Given the description of an element on the screen output the (x, y) to click on. 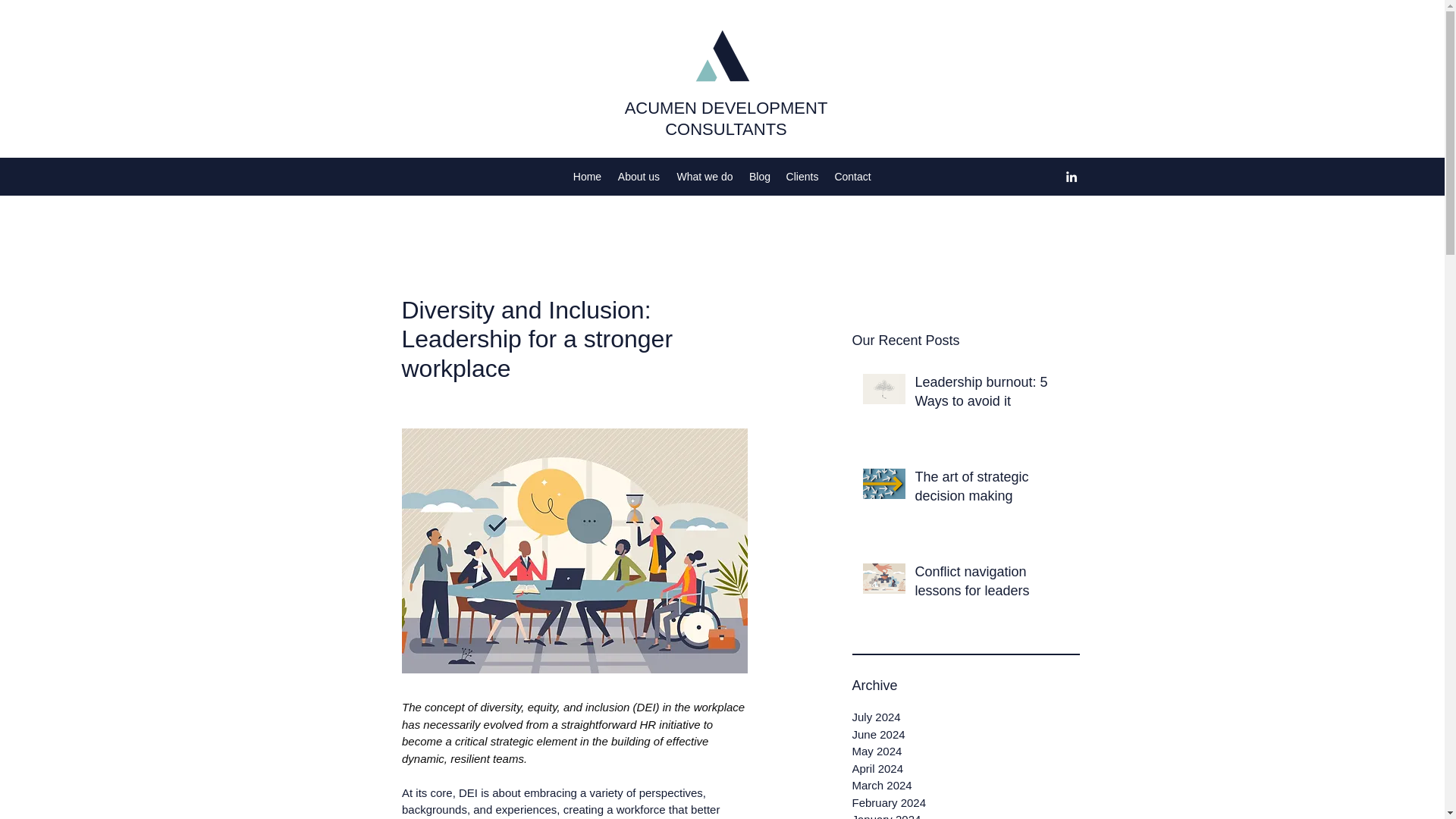
What we do (704, 176)
March 2024 (965, 785)
April 2024 (965, 768)
Contact (853, 176)
January 2024 (965, 815)
Clients (801, 176)
July 2024 (965, 717)
Home (588, 176)
Leadership burnout: 5 Ways to avoid it (992, 394)
Conflict navigation lessons for leaders (992, 584)
About us (639, 176)
June 2024 (965, 734)
The art of strategic decision making (992, 489)
May 2024 (965, 751)
Blog (759, 176)
